Given the description of an element on the screen output the (x, y) to click on. 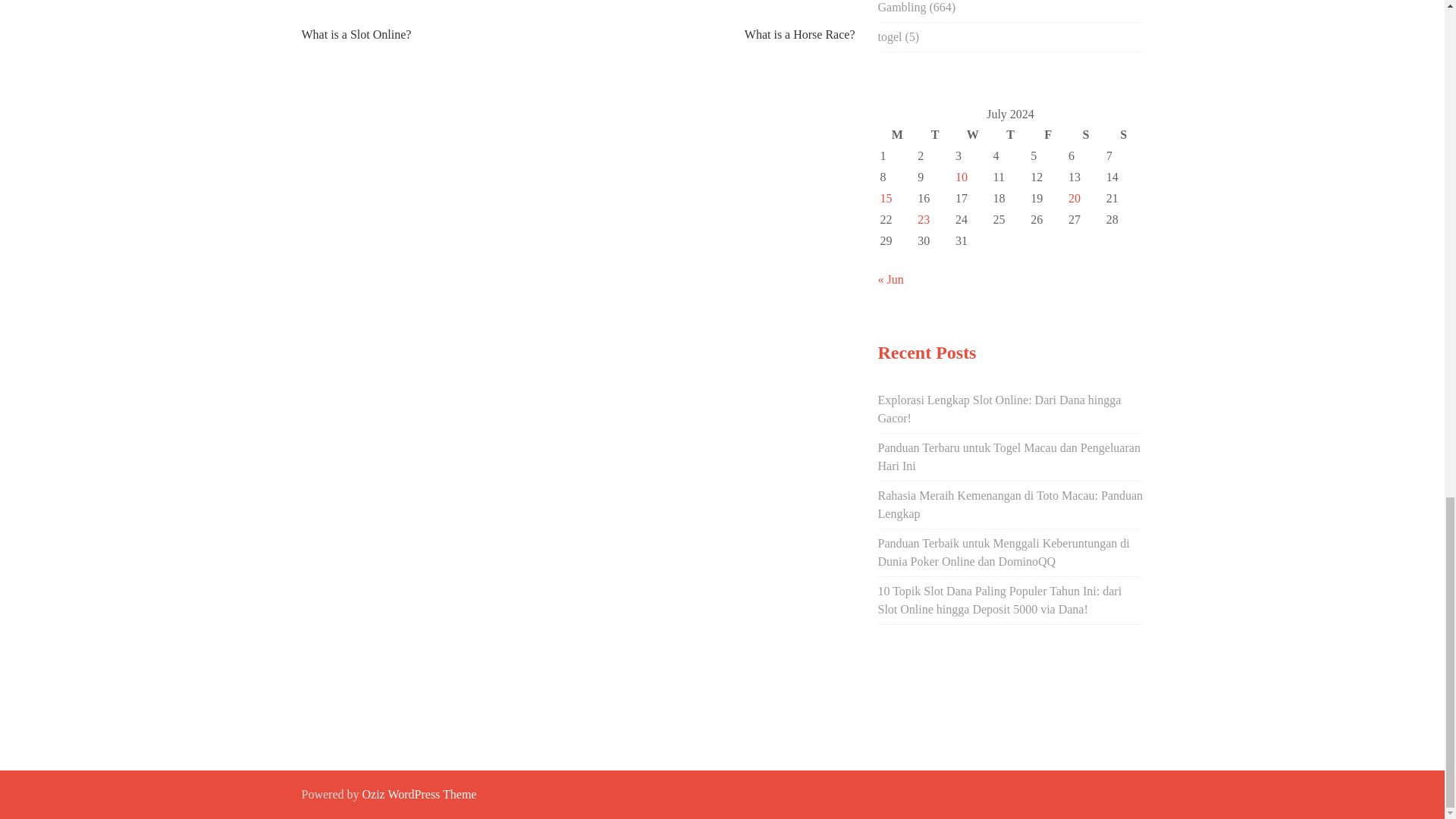
Sunday (1123, 134)
What is a Horse Race? (800, 33)
Wednesday (973, 134)
togel (889, 36)
Friday (1047, 134)
10 (961, 176)
Saturday (1085, 134)
Thursday (1010, 134)
Monday (897, 134)
What is a Slot Online? (356, 33)
Tuesday (935, 134)
Gambling (901, 6)
